Given the description of an element on the screen output the (x, y) to click on. 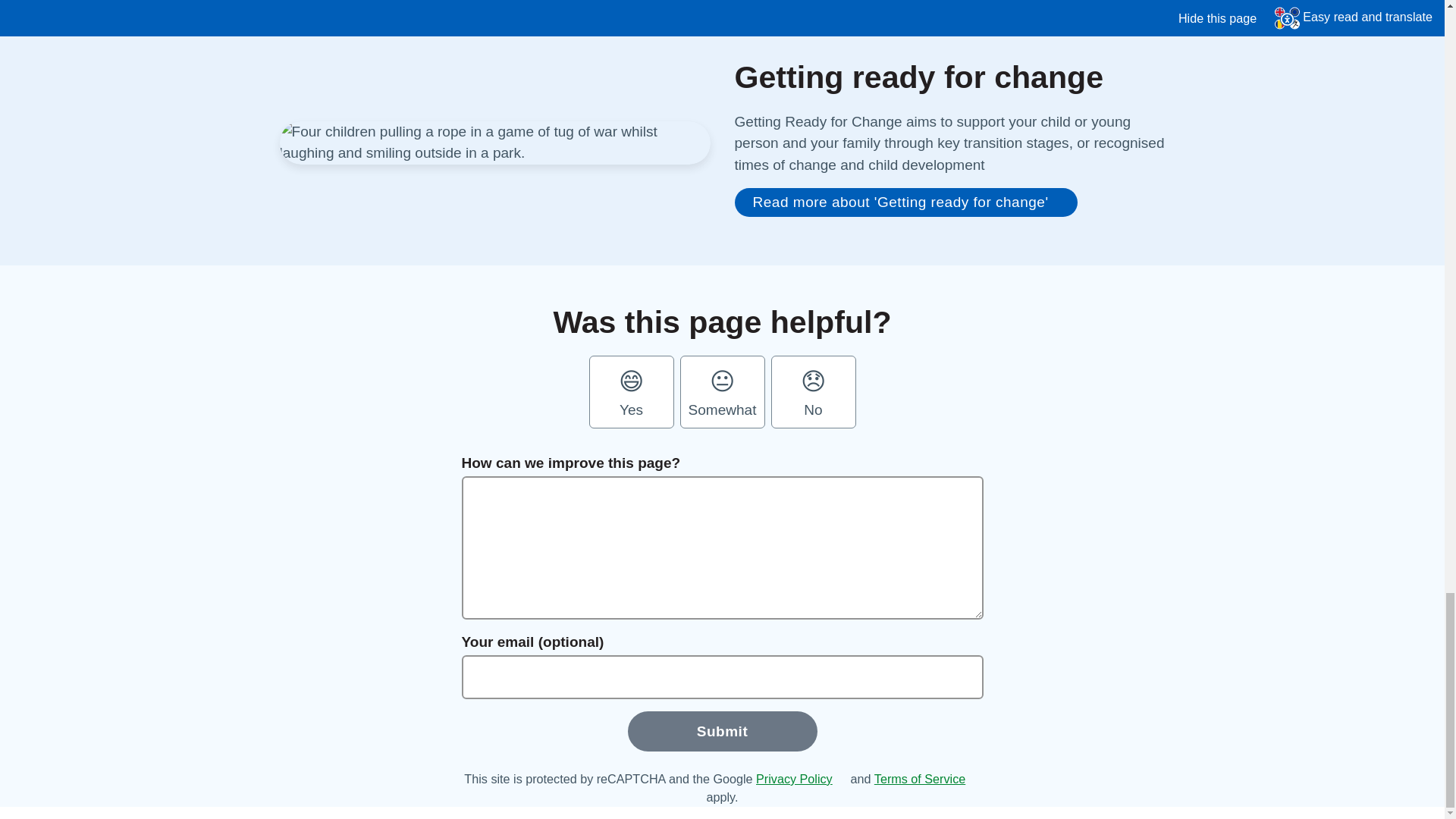
Submit (721, 731)
Sad (813, 391)
Happy (631, 391)
Neutral (721, 391)
